Given the description of an element on the screen output the (x, y) to click on. 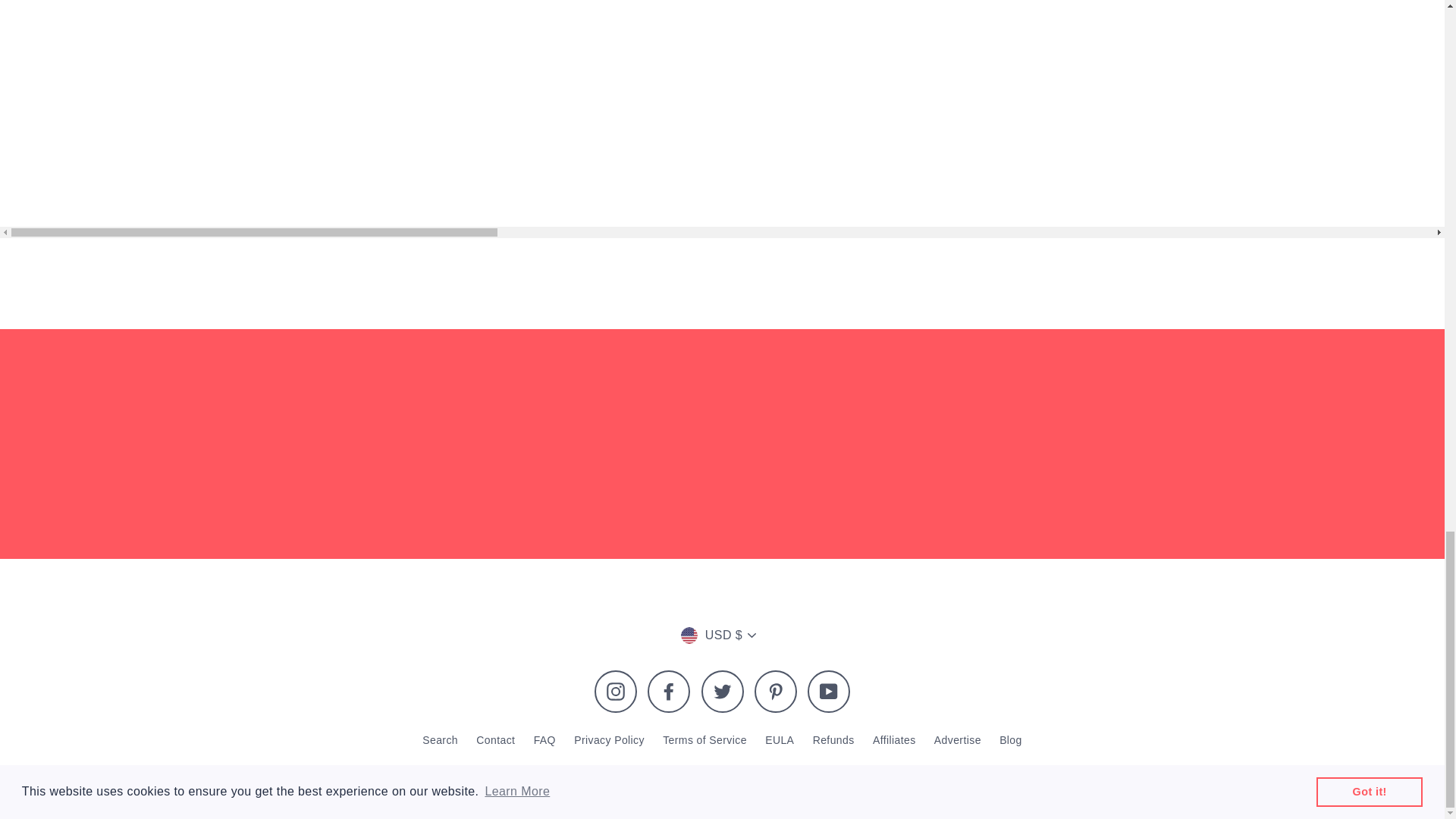
Diners Club (646, 776)
Pixel Surplus on Facebook (668, 691)
Apple Pay (608, 776)
Pixel Surplus on Twitter (721, 691)
Discover (683, 776)
Google Pay (721, 776)
Shop Pay (836, 776)
Mastercard (759, 776)
PayPal (798, 776)
Pixel Surplus on Instagram (615, 691)
American Express (568, 776)
